Given the description of an element on the screen output the (x, y) to click on. 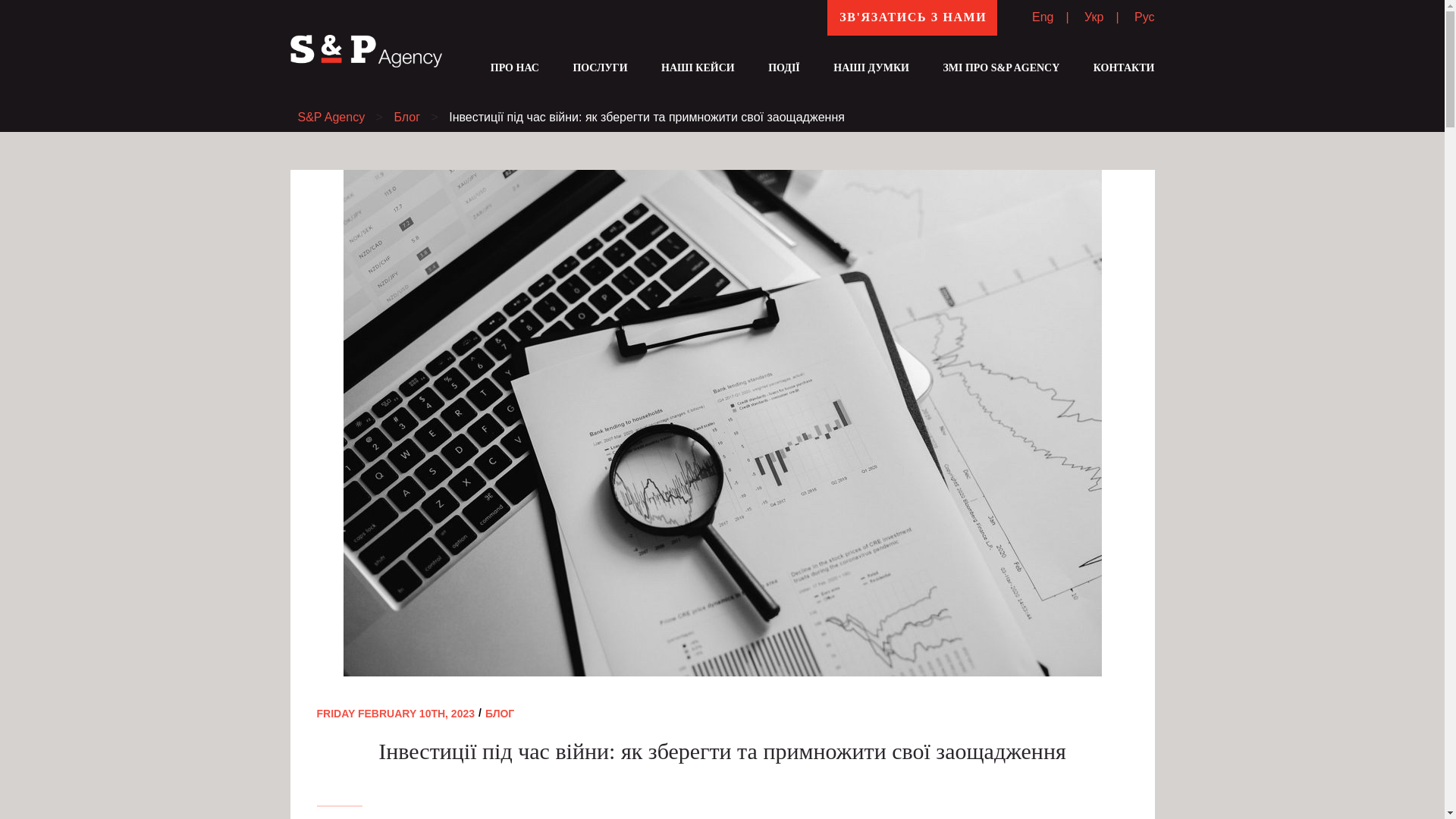
FRIDAY FEBRUARY 10TH, 2023 (396, 713)
Eng (1044, 16)
